Given the description of an element on the screen output the (x, y) to click on. 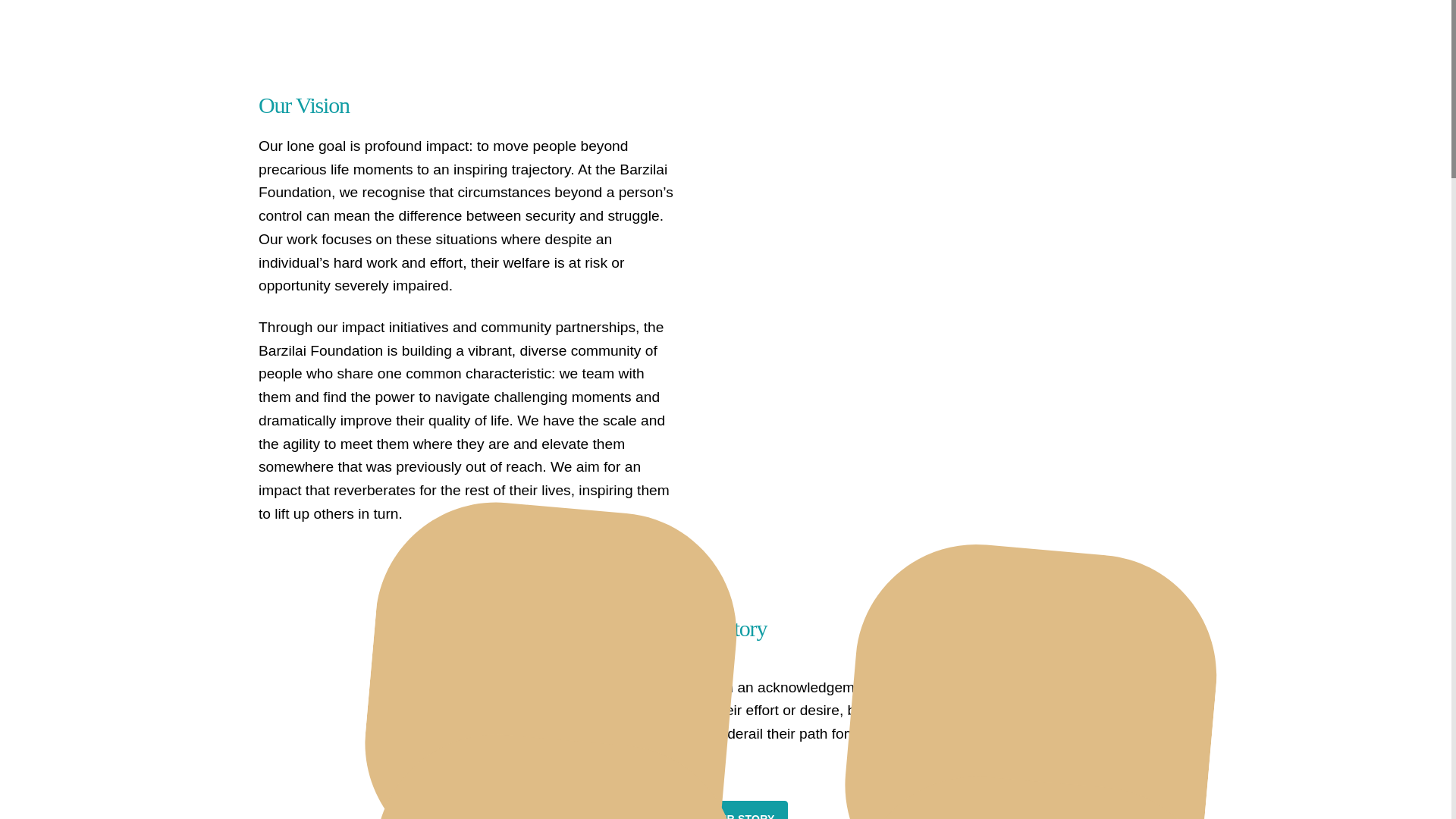
READ OUR STORY (725, 809)
